Given the description of an element on the screen output the (x, y) to click on. 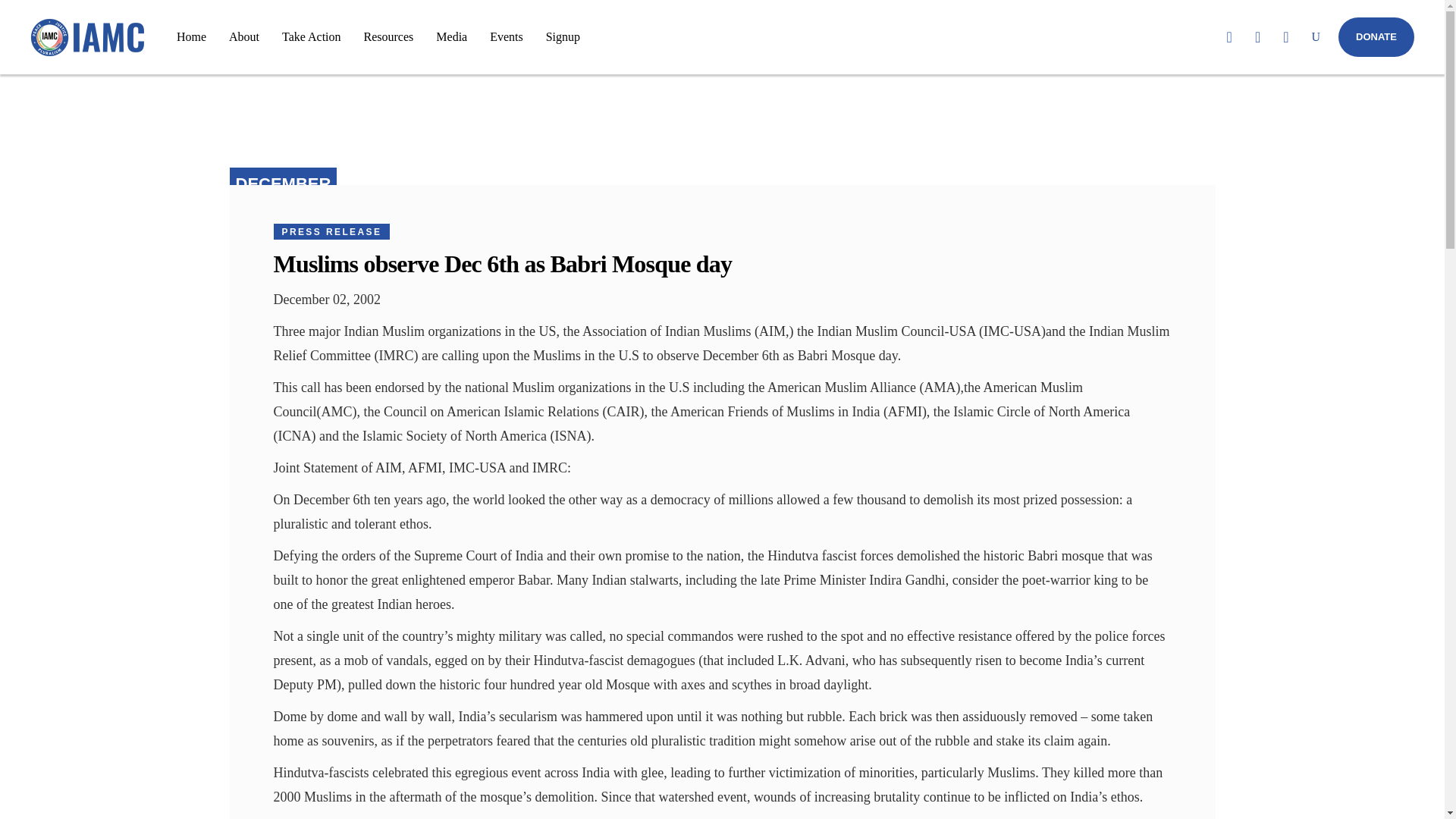
Home (190, 36)
Media (452, 36)
Take Action (311, 36)
Events (506, 36)
About (243, 36)
Signup (562, 36)
Resources (388, 36)
DONATE (1375, 36)
